Given the description of an element on the screen output the (x, y) to click on. 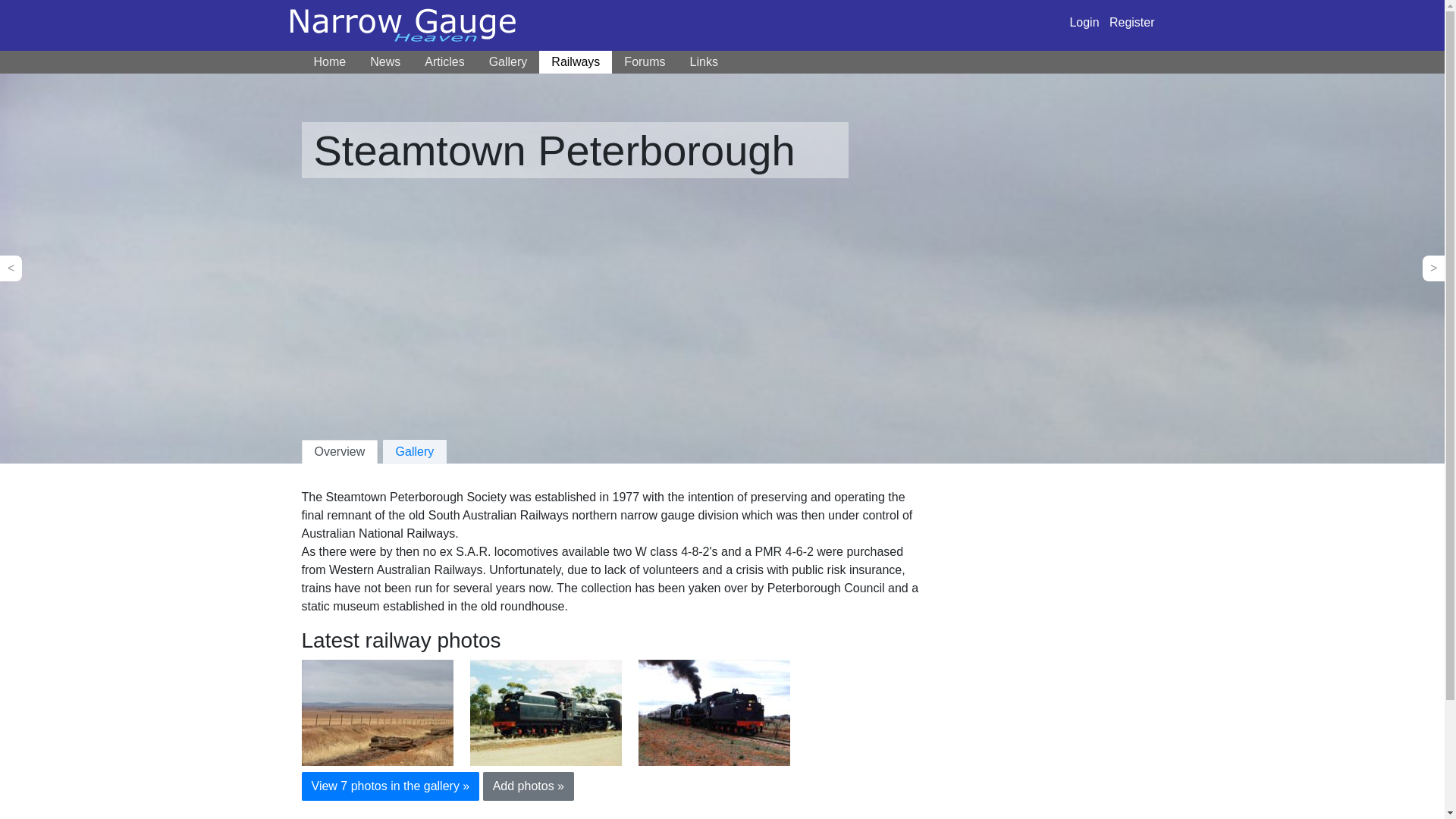
Railways (574, 61)
Articles (444, 61)
Gallery (508, 61)
Home (329, 61)
News (385, 61)
Overview (339, 451)
Links (704, 61)
W901 nearing Orroroo (545, 711)
Steamtown 28 Nov 2008 (376, 711)
Gallery (414, 451)
Register (1131, 21)
Forums (644, 61)
Login (1083, 21)
